Given the description of an element on the screen output the (x, y) to click on. 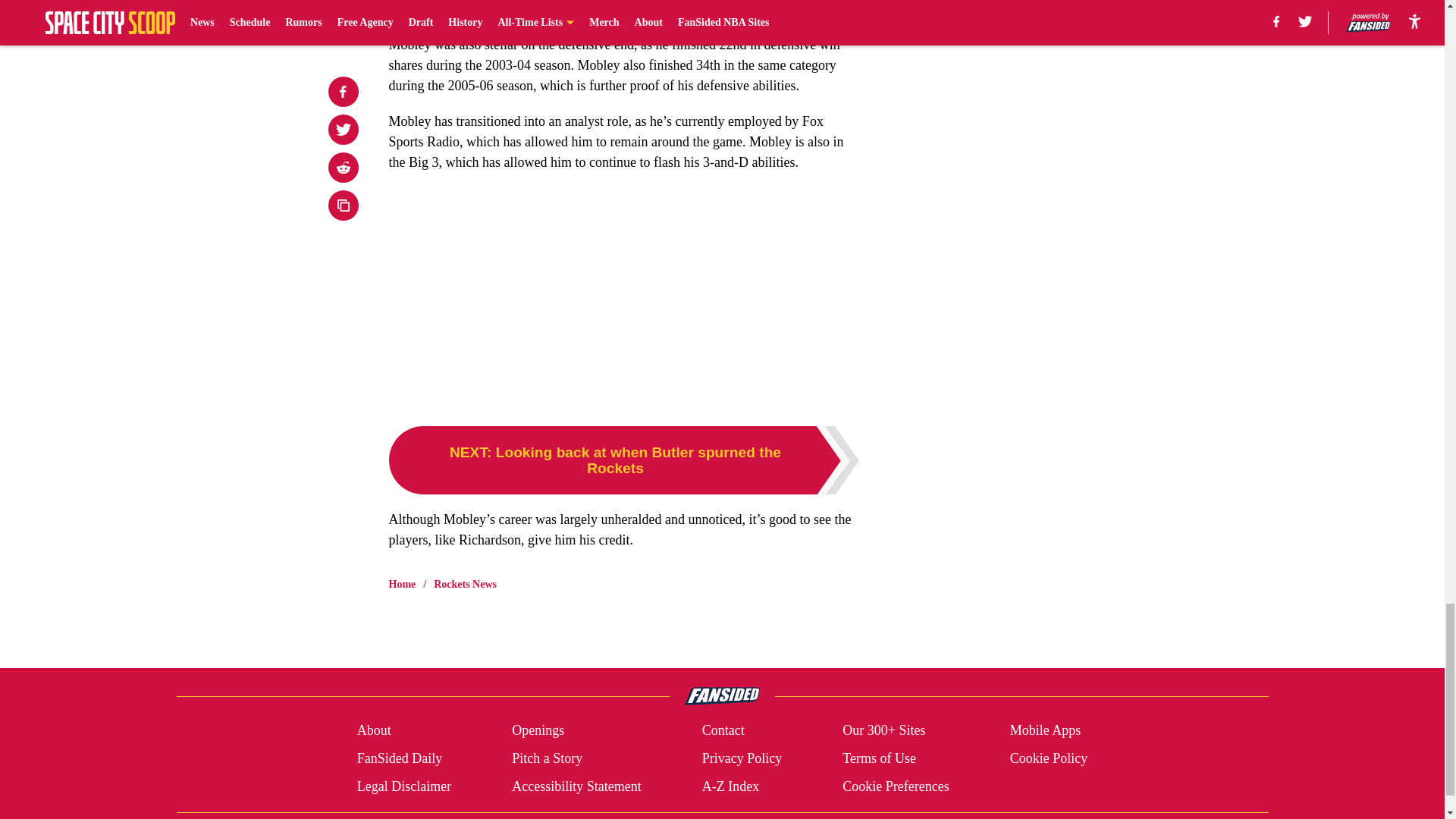
Openings (538, 730)
About (373, 730)
Rockets News (464, 584)
Home (401, 584)
Contact (722, 730)
one of the most difficult players to defend (553, 8)
NEXT: Looking back at when Butler spurned the Rockets (623, 459)
